Given the description of an element on the screen output the (x, y) to click on. 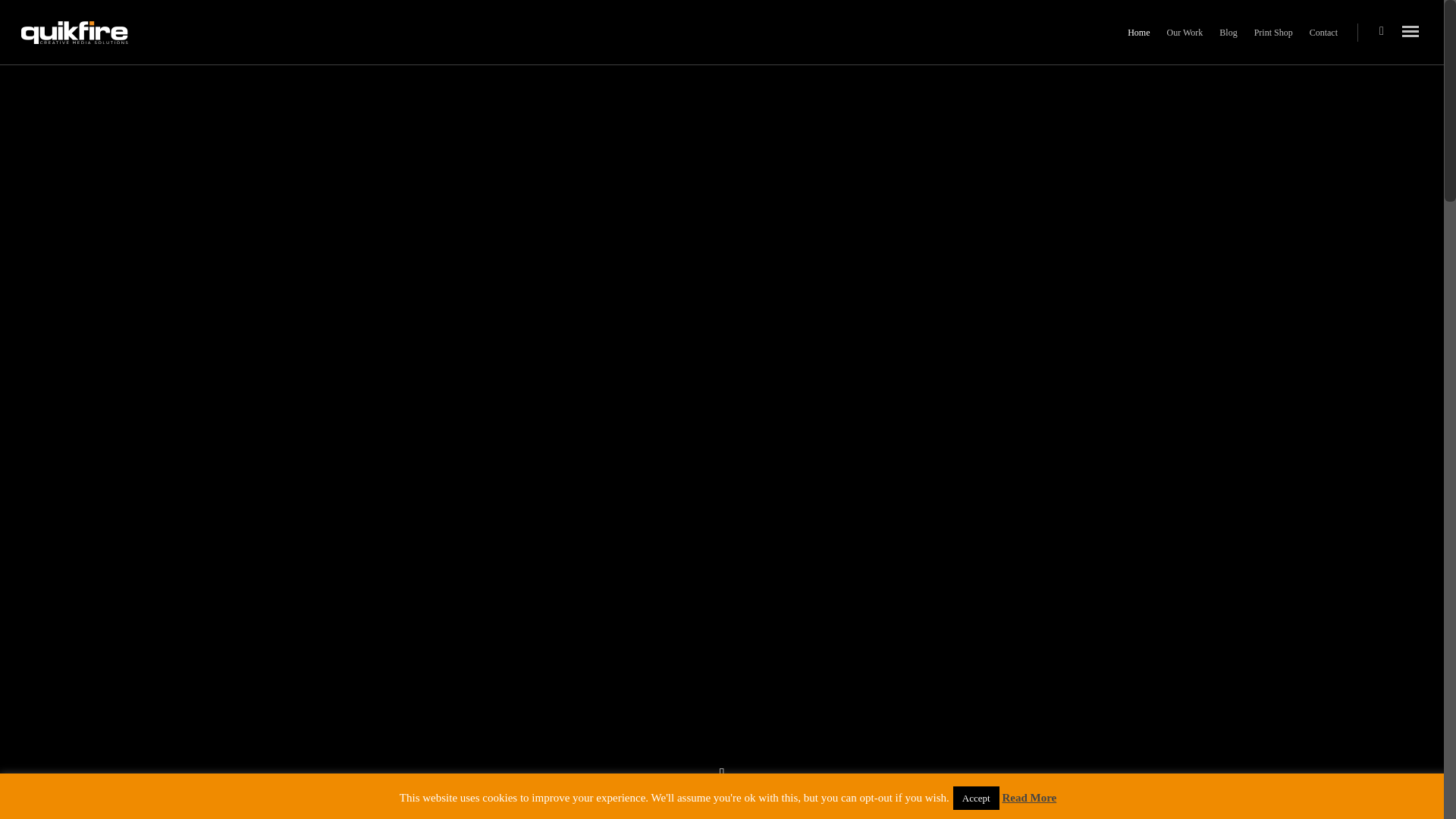
Print Shop (1273, 43)
Contact (1323, 43)
Our Work (1183, 43)
